Given the description of an element on the screen output the (x, y) to click on. 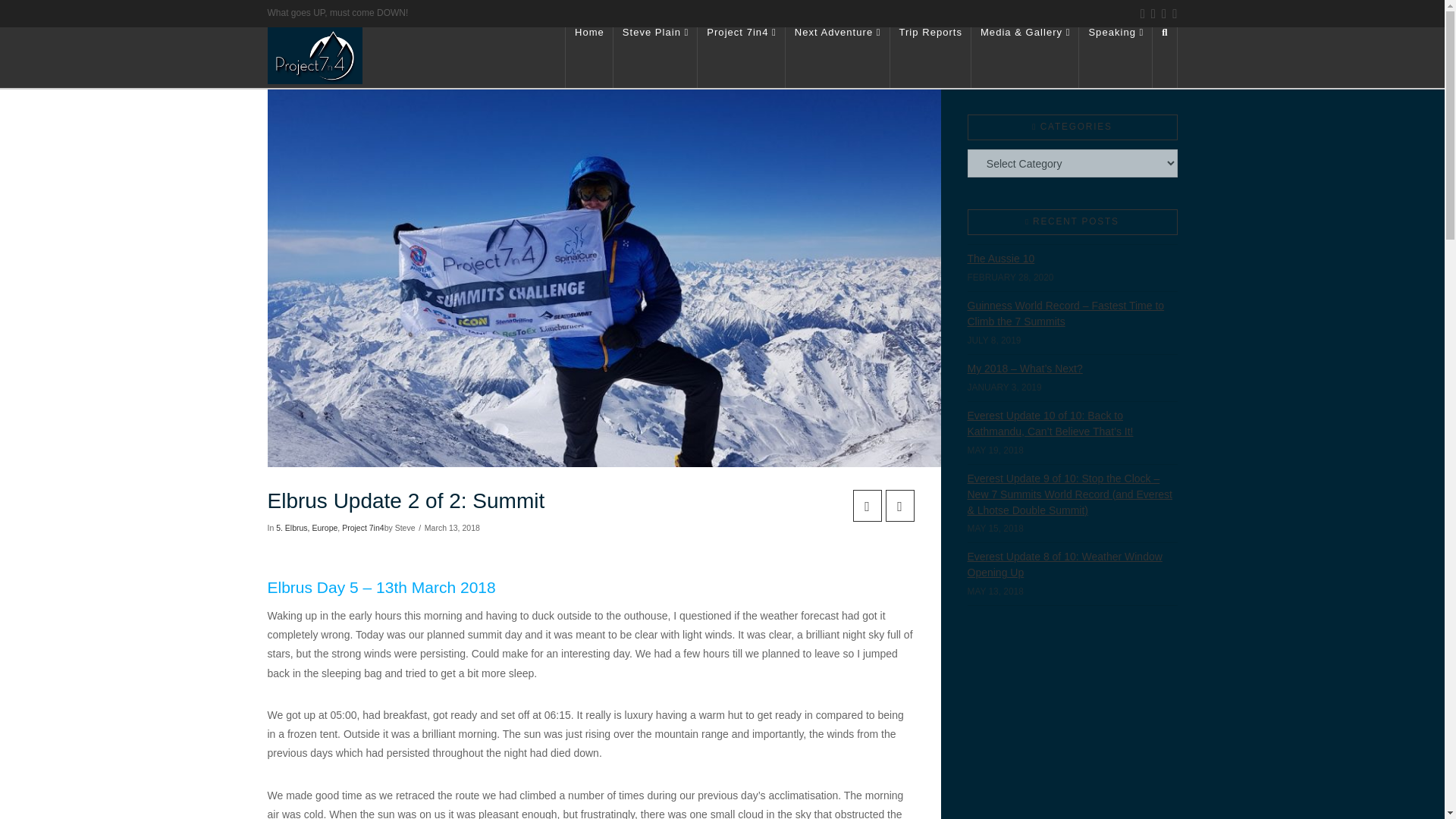
Speaking (1115, 57)
Steve Plain (655, 57)
Trip Reports (930, 57)
Project 7in4 (740, 57)
Next Adventure (837, 57)
